Given the description of an element on the screen output the (x, y) to click on. 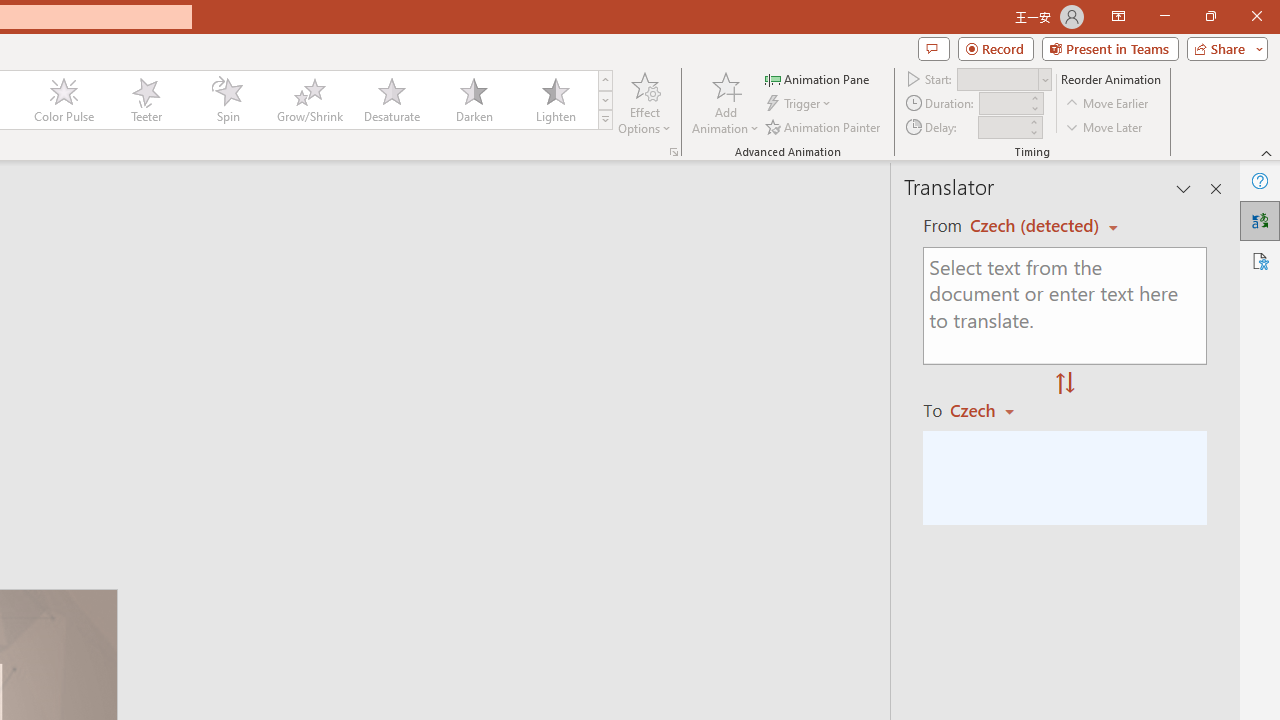
Animation Delay (1002, 127)
Animation Styles (605, 120)
Trigger (799, 103)
Grow/Shrink (309, 100)
Move Later (1105, 126)
Add Animation (725, 102)
